Given the description of an element on the screen output the (x, y) to click on. 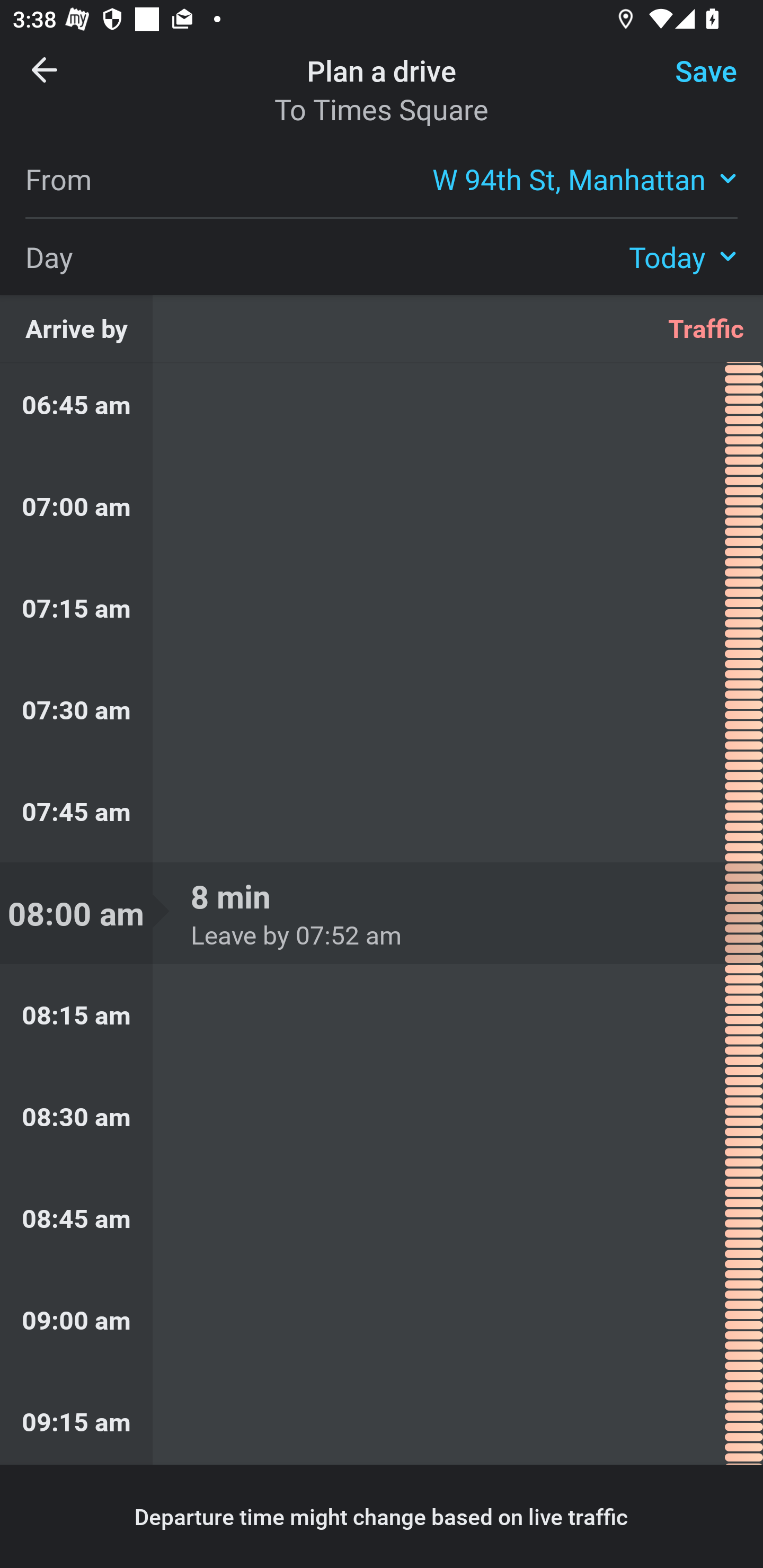
Settings (690, 82)
W 94th St, Manhattan (584, 178)
Today (682, 255)
06:45 am (381, 409)
07:00 am (381, 506)
07:15 am (381, 607)
07:30 am (381, 709)
07:45 am (381, 811)
08:00 am 8 min Leave by 07:52 am (381, 913)
08:15 am (381, 1015)
08:30 am (381, 1117)
08:45 am (381, 1218)
09:00 am (381, 1319)
09:15 am (381, 1417)
